Given the description of an element on the screen output the (x, y) to click on. 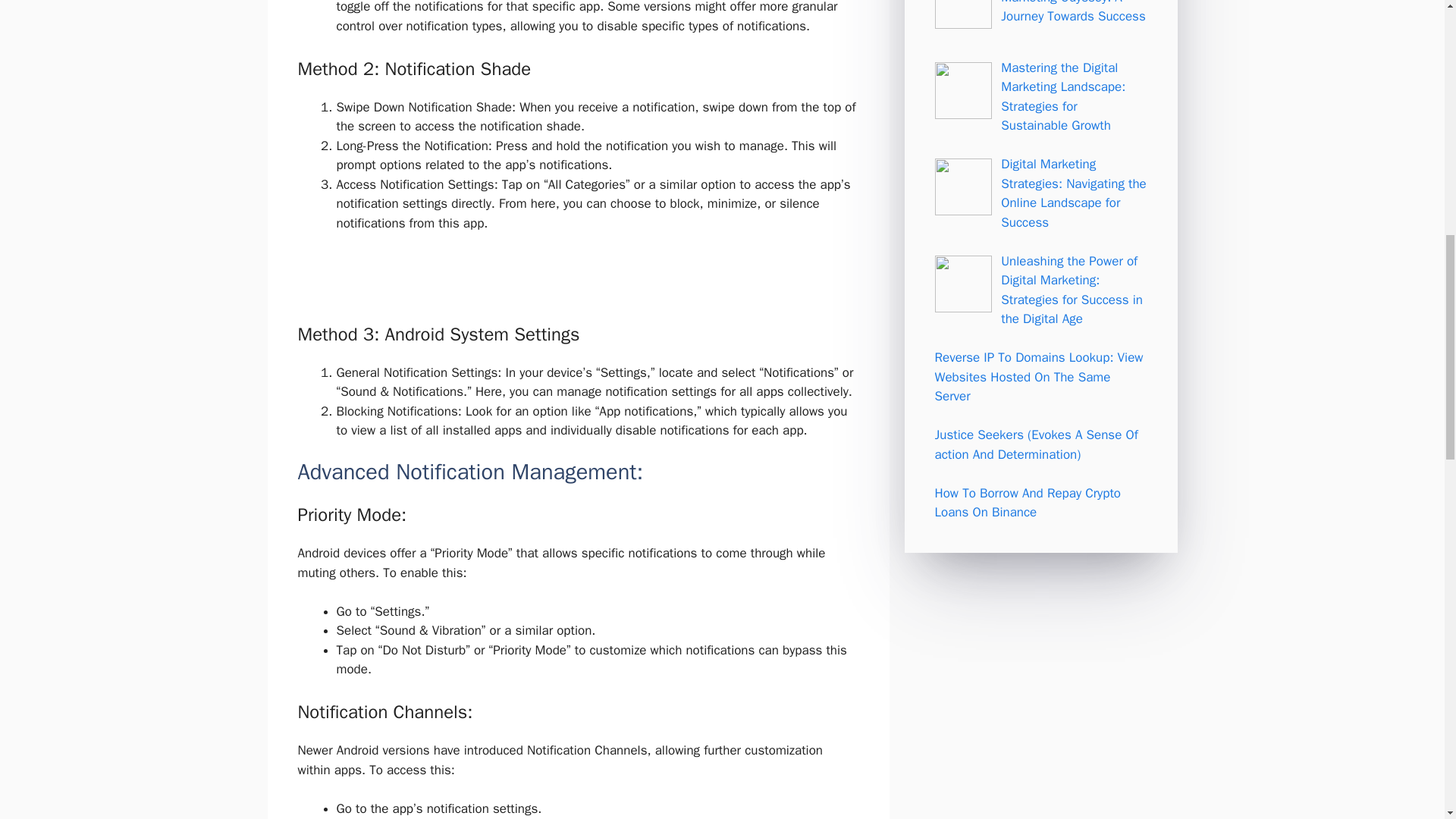
How To Borrow And Repay Crypto Loans On Binance (1027, 502)
